Given the description of an element on the screen output the (x, y) to click on. 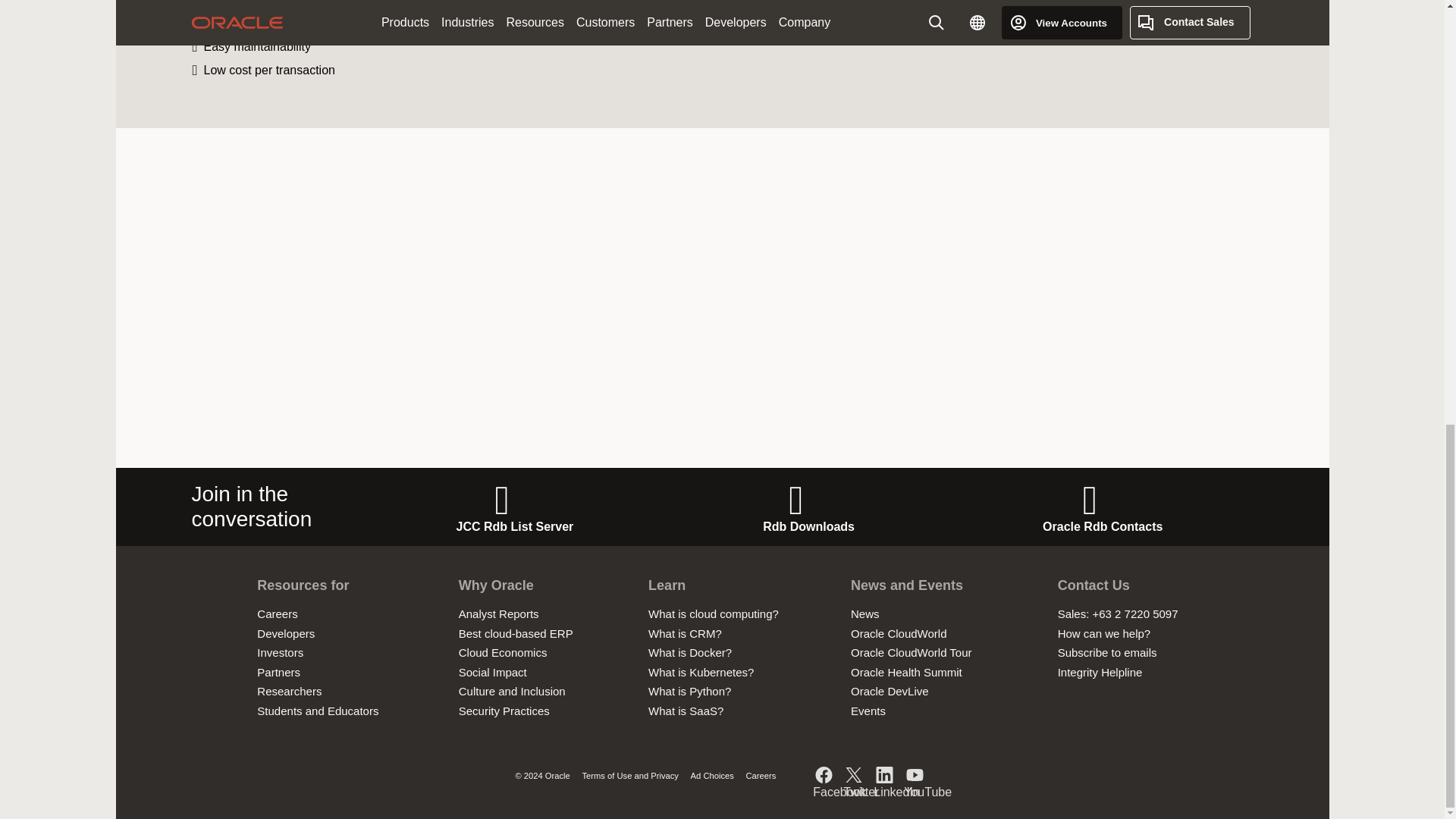
Oracle on Facebook (823, 776)
Watch Oracle on YouTube (915, 776)
Follow Oracle on Twitter (854, 776)
Oracle on LinkedIn (884, 776)
